Given the description of an element on the screen output the (x, y) to click on. 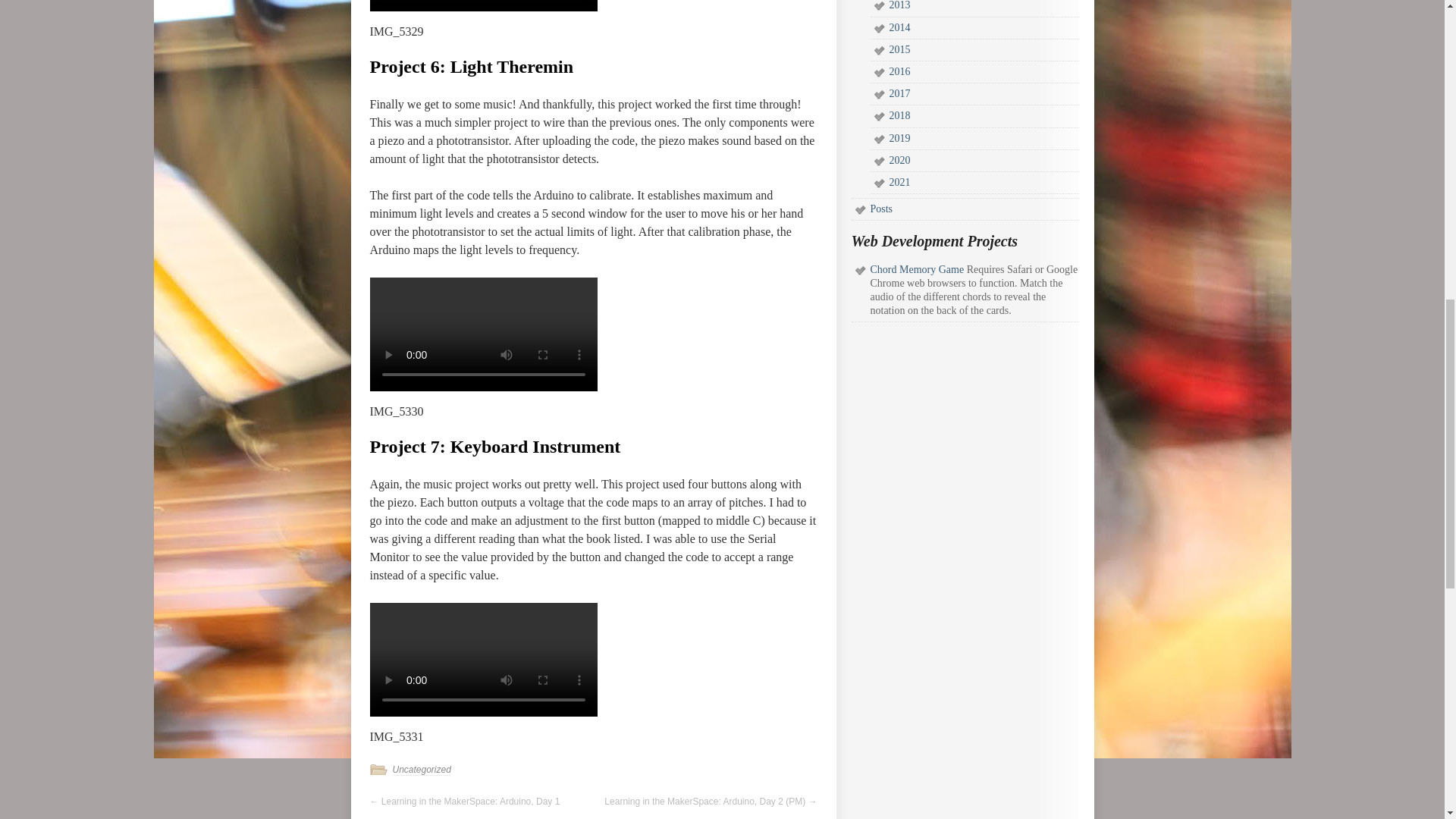
Uncategorized (422, 769)
